Given the description of an element on the screen output the (x, y) to click on. 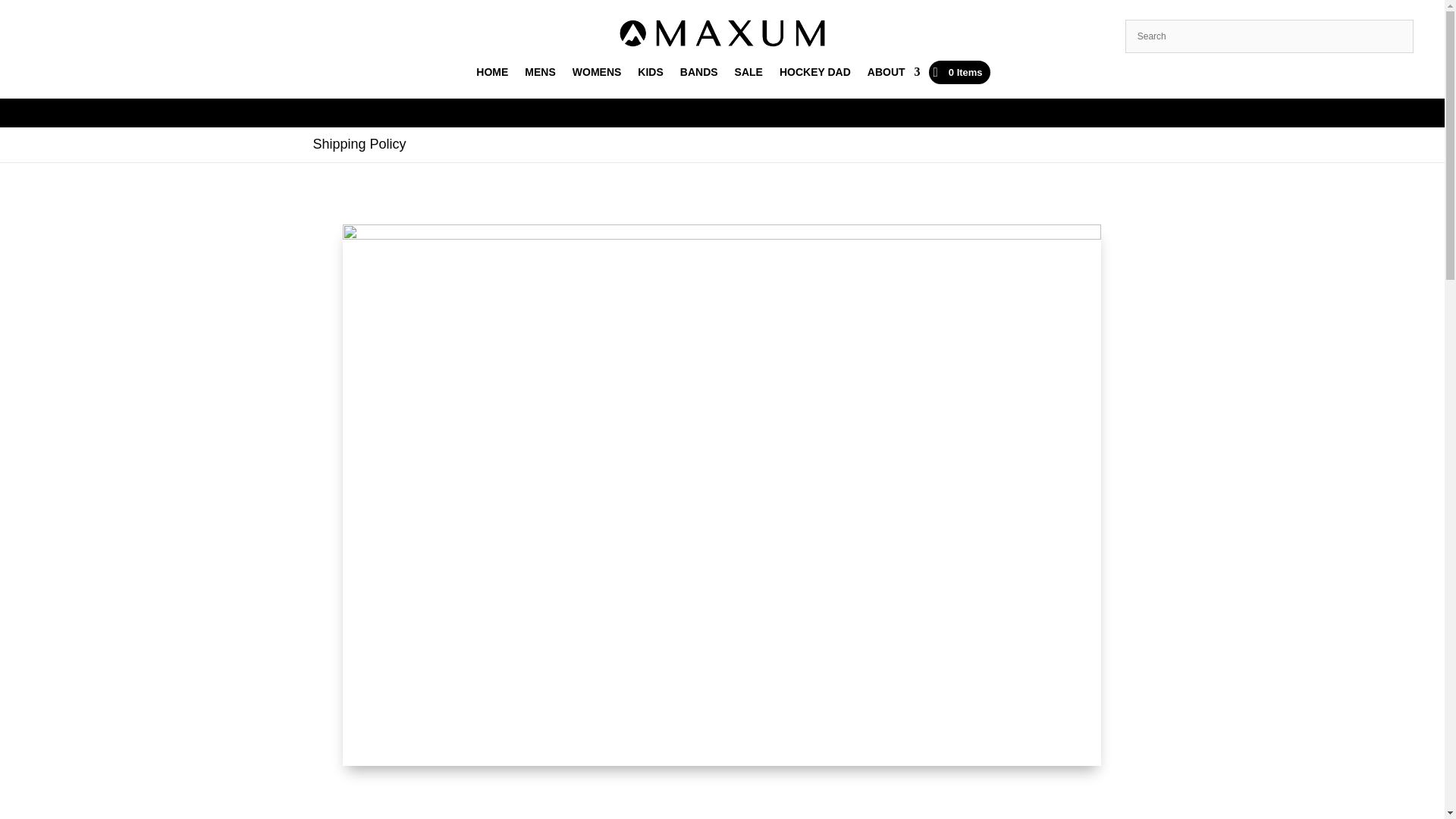
Maxum-Watches-Australia (722, 32)
0 Items (959, 72)
HOME (492, 75)
SALE (748, 75)
HOCKEY DAD (814, 75)
KIDS (649, 75)
WOMENS (596, 75)
BANDS (698, 75)
ABOUT (893, 75)
MENS (539, 75)
